Given the description of an element on the screen output the (x, y) to click on. 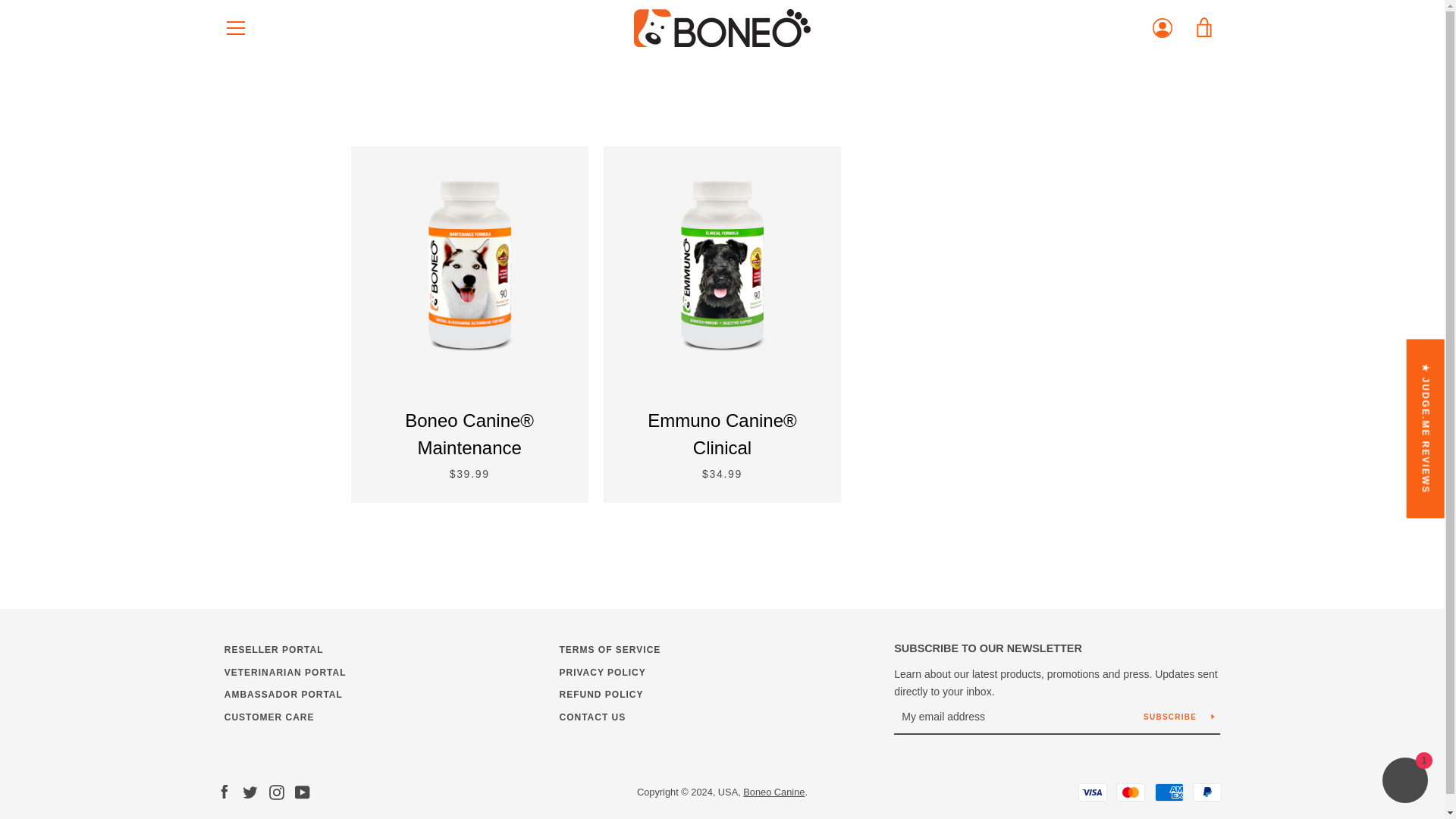
VIEW CART (1205, 27)
RESELLER PORTAL (273, 649)
Mastercard (1130, 791)
Boneo Canine on Facebook (223, 790)
Visa (1092, 791)
PayPal (1206, 791)
American Express (1168, 791)
MENU (235, 27)
Boneo Canine on Instagram (276, 790)
VETERINARIAN PORTAL (285, 672)
CUSTOMER CARE (269, 716)
AMBASSADOR PORTAL (283, 694)
Boneo Canine on YouTube (302, 790)
Boneo Canine on Twitter (250, 790)
